Given the description of an element on the screen output the (x, y) to click on. 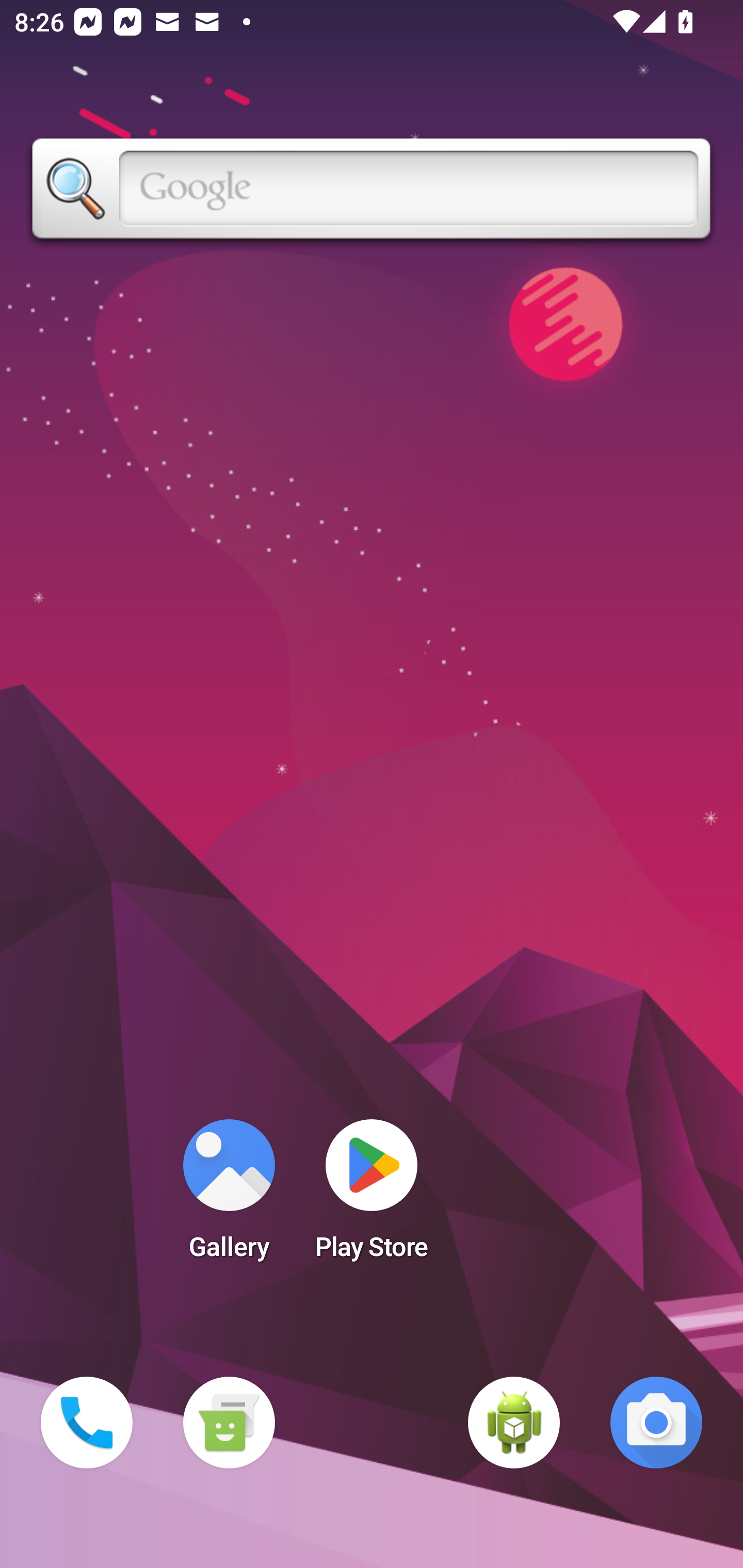
Gallery (228, 1195)
Play Store (371, 1195)
Phone (86, 1422)
Messaging (228, 1422)
WebView Browser Tester (513, 1422)
Camera (656, 1422)
